Given the description of an element on the screen output the (x, y) to click on. 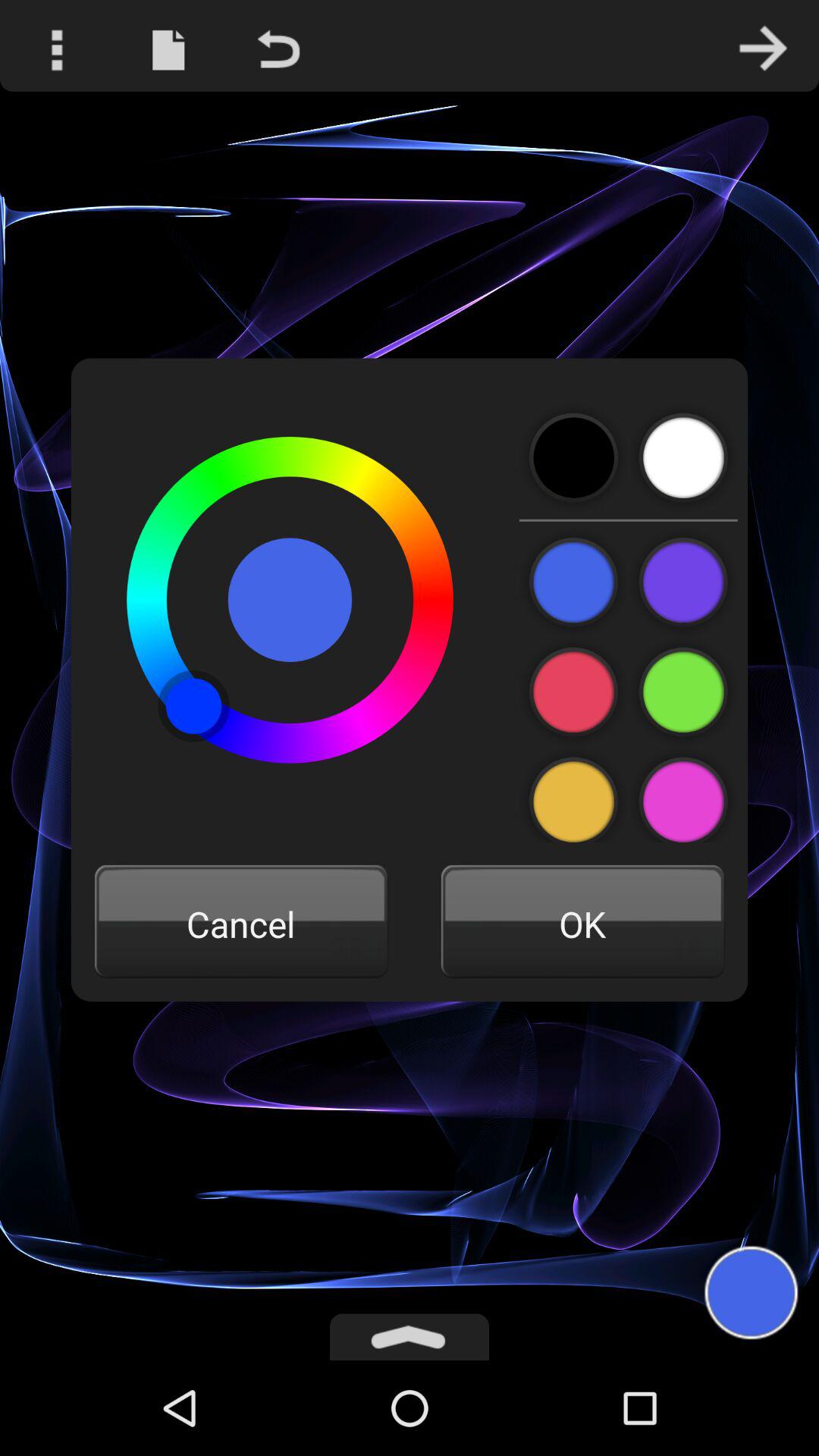
black colour (574, 458)
